Given the description of an element on the screen output the (x, y) to click on. 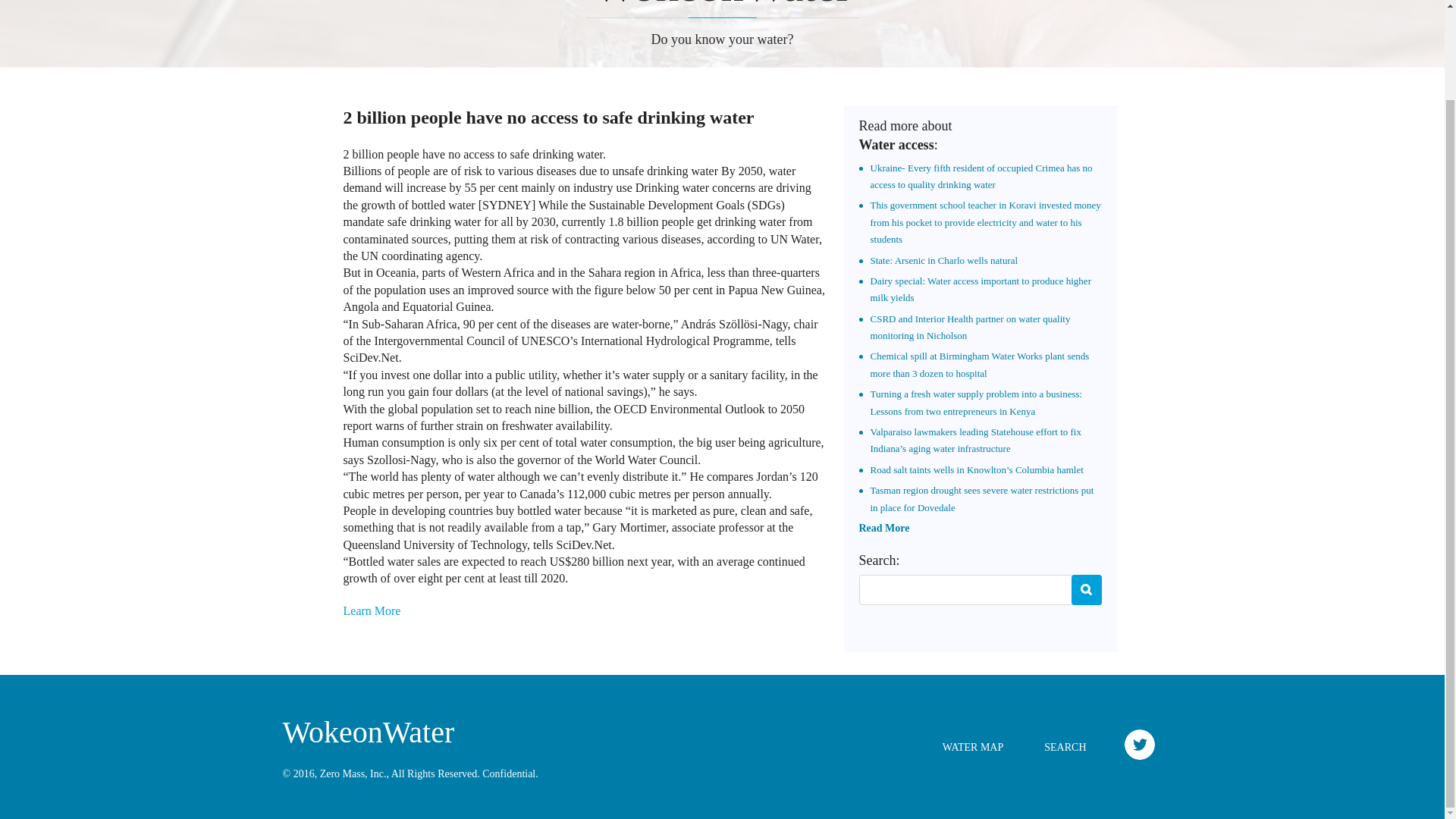
Read More (883, 527)
Learn More (371, 610)
SEARCH (1065, 747)
Search (1085, 589)
State: Arsenic in Charlo wells natural (943, 260)
